Given the description of an element on the screen output the (x, y) to click on. 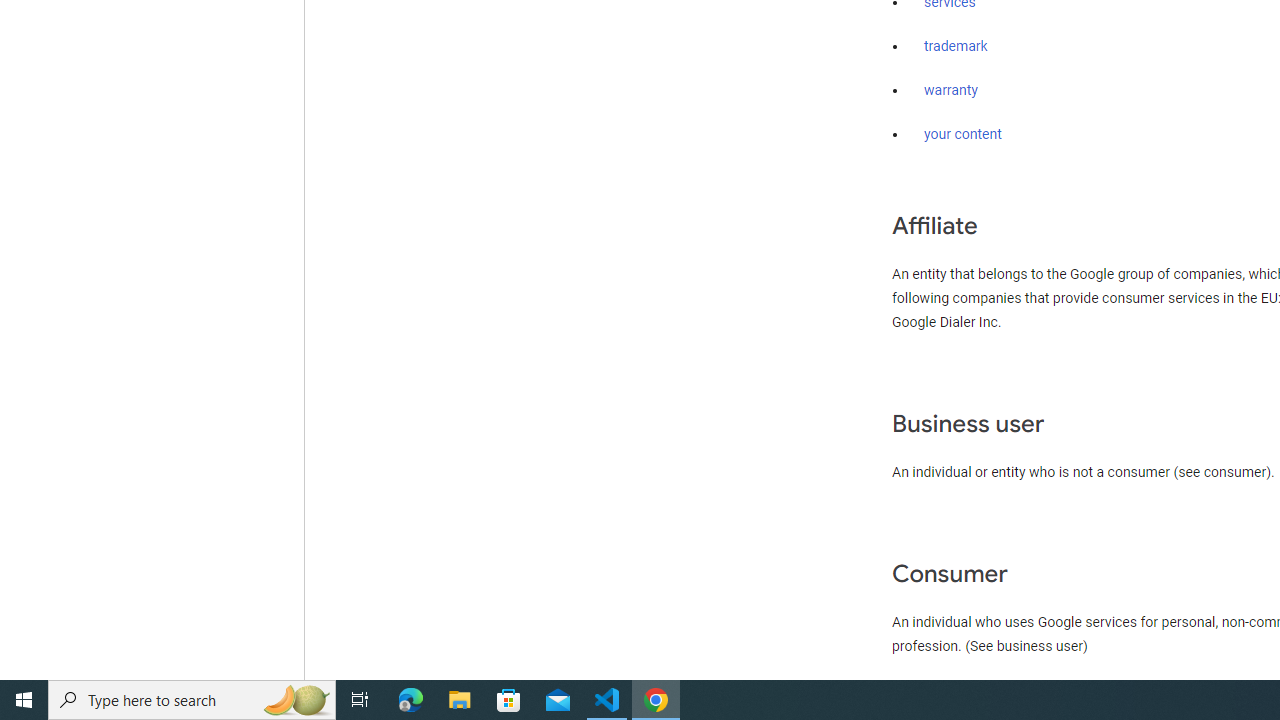
your content (963, 134)
warranty (950, 91)
trademark (956, 47)
